Given the description of an element on the screen output the (x, y) to click on. 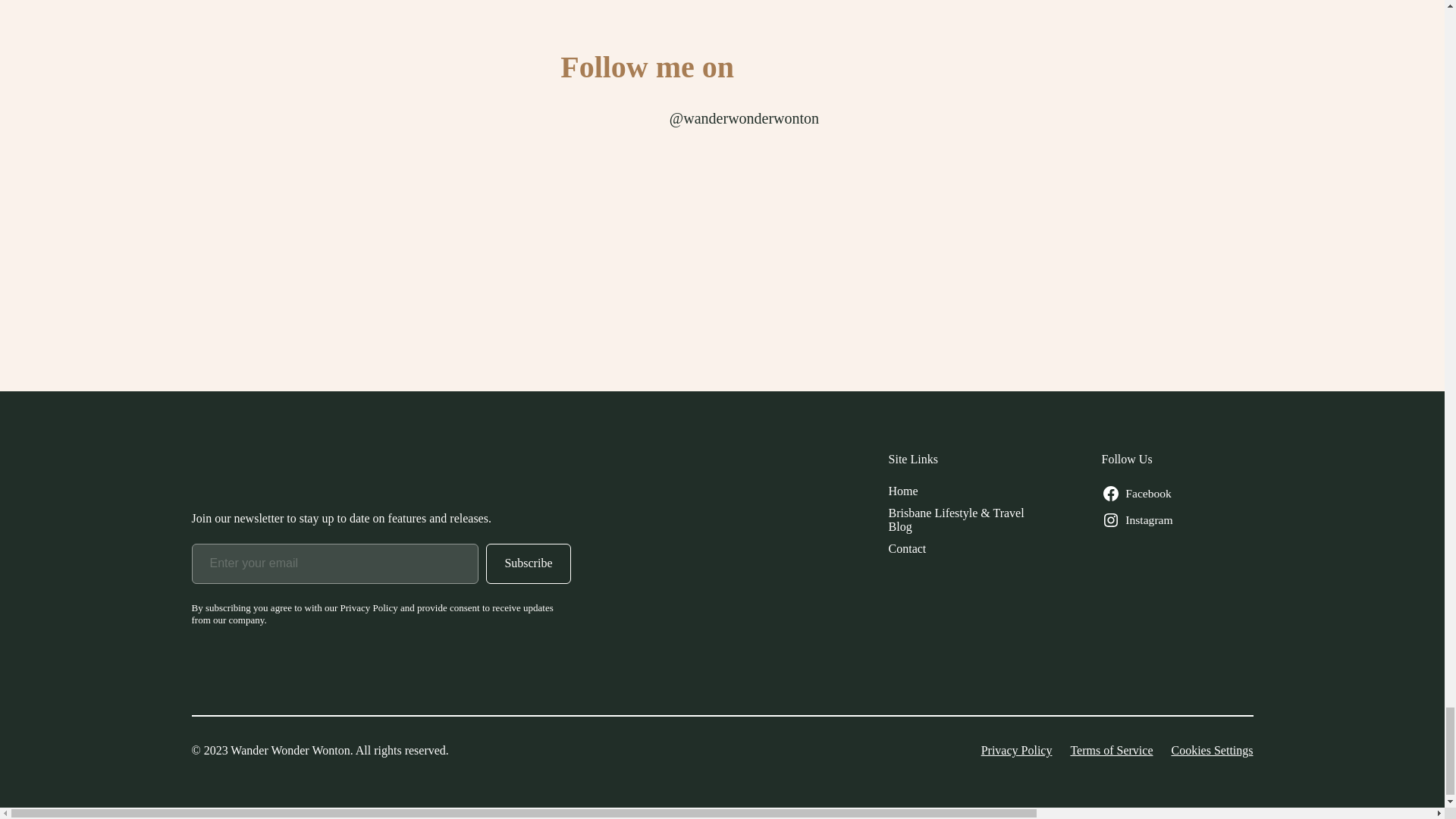
Please fill in this field. (334, 563)
Subscribe (528, 563)
